Given the description of an element on the screen output the (x, y) to click on. 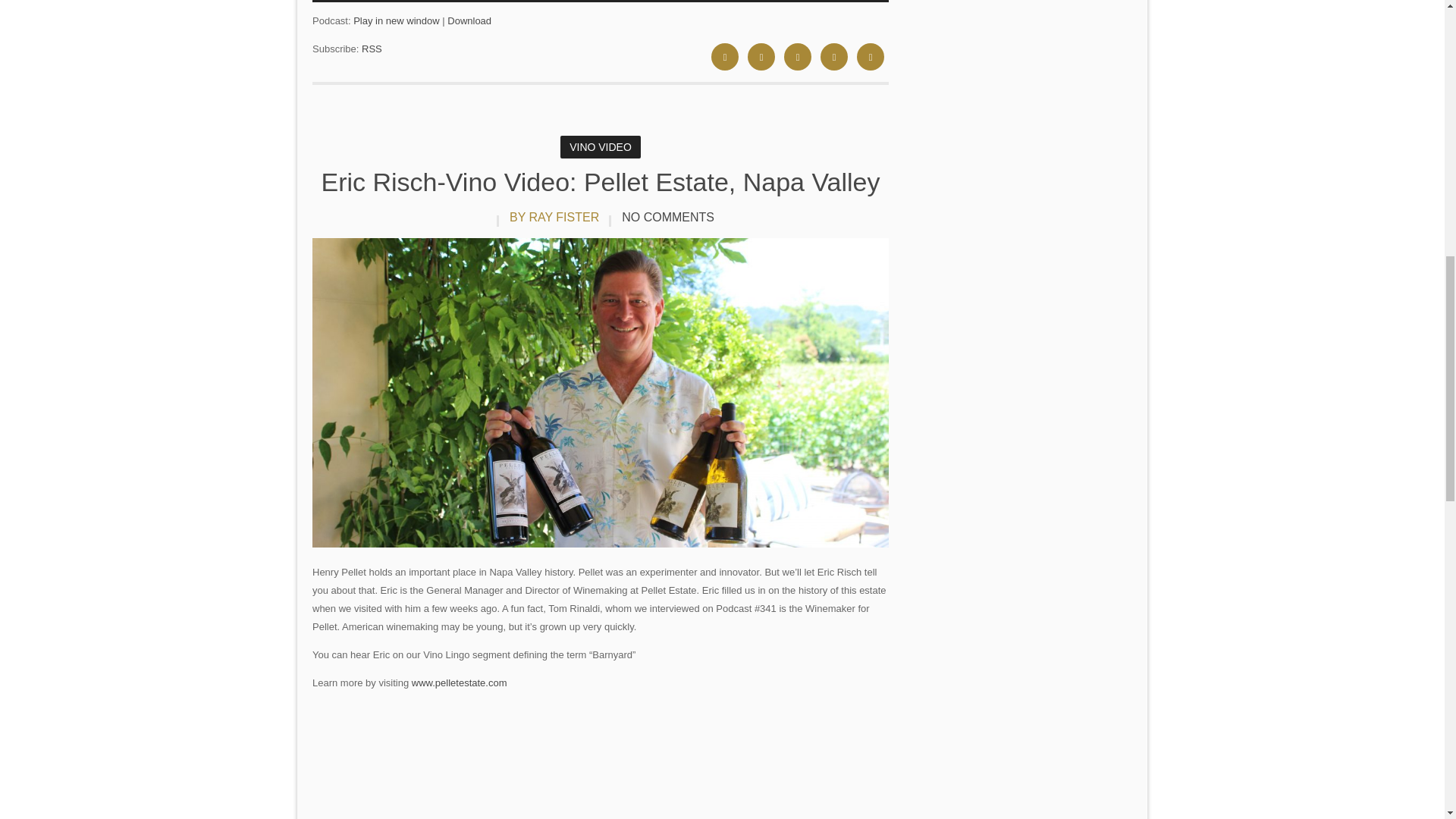
Subscribe via RSS (371, 48)
Download (469, 20)
Play in new window (396, 20)
Play in new window (396, 20)
